Given the description of an element on the screen output the (x, y) to click on. 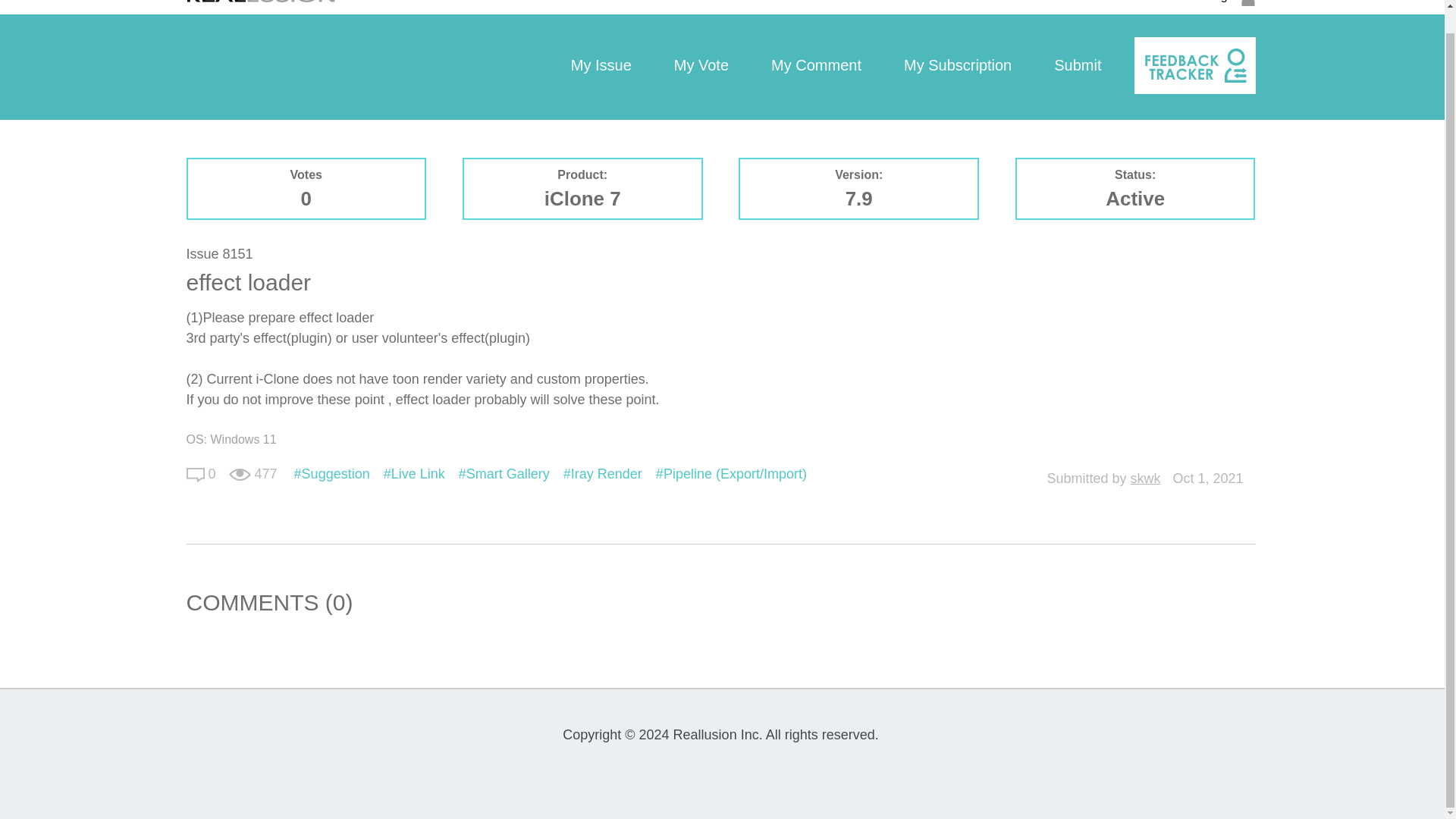
My Issue (601, 66)
Feedback Tracker Home (1194, 65)
Suggestion (331, 473)
My Vote (700, 66)
Views (239, 474)
Submit (1076, 66)
Smart Gallery (504, 473)
My Subscription (957, 66)
My Comment (815, 66)
Login (1231, 5)
